Given the description of an element on the screen output the (x, y) to click on. 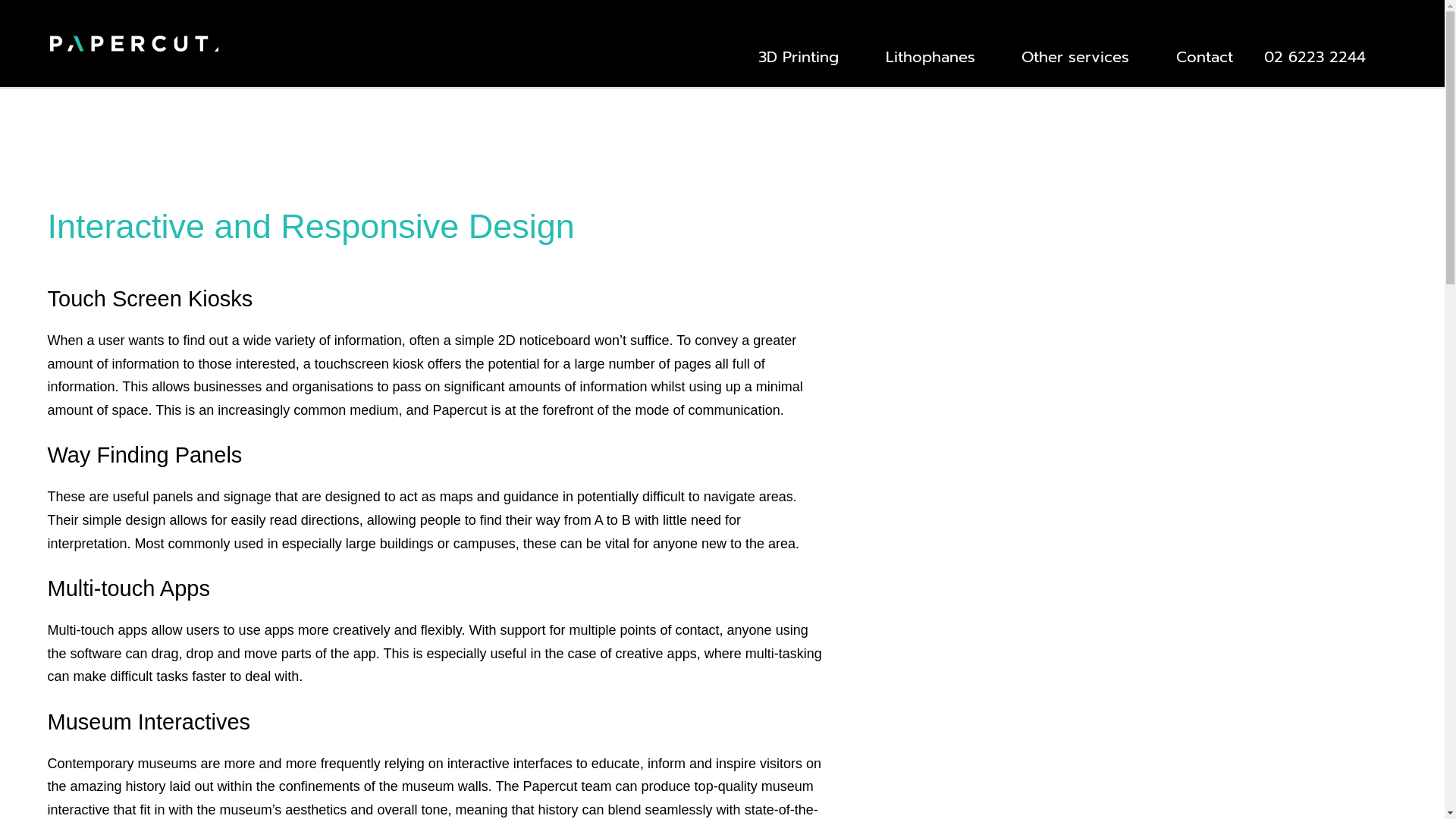
02 6223 2244 Element type: text (1308, 50)
Other services Element type: text (1076, 50)
Contact Element type: text (1197, 50)
Lithophanes Element type: text (931, 50)
3D Printing Element type: text (799, 50)
